Given the description of an element on the screen output the (x, y) to click on. 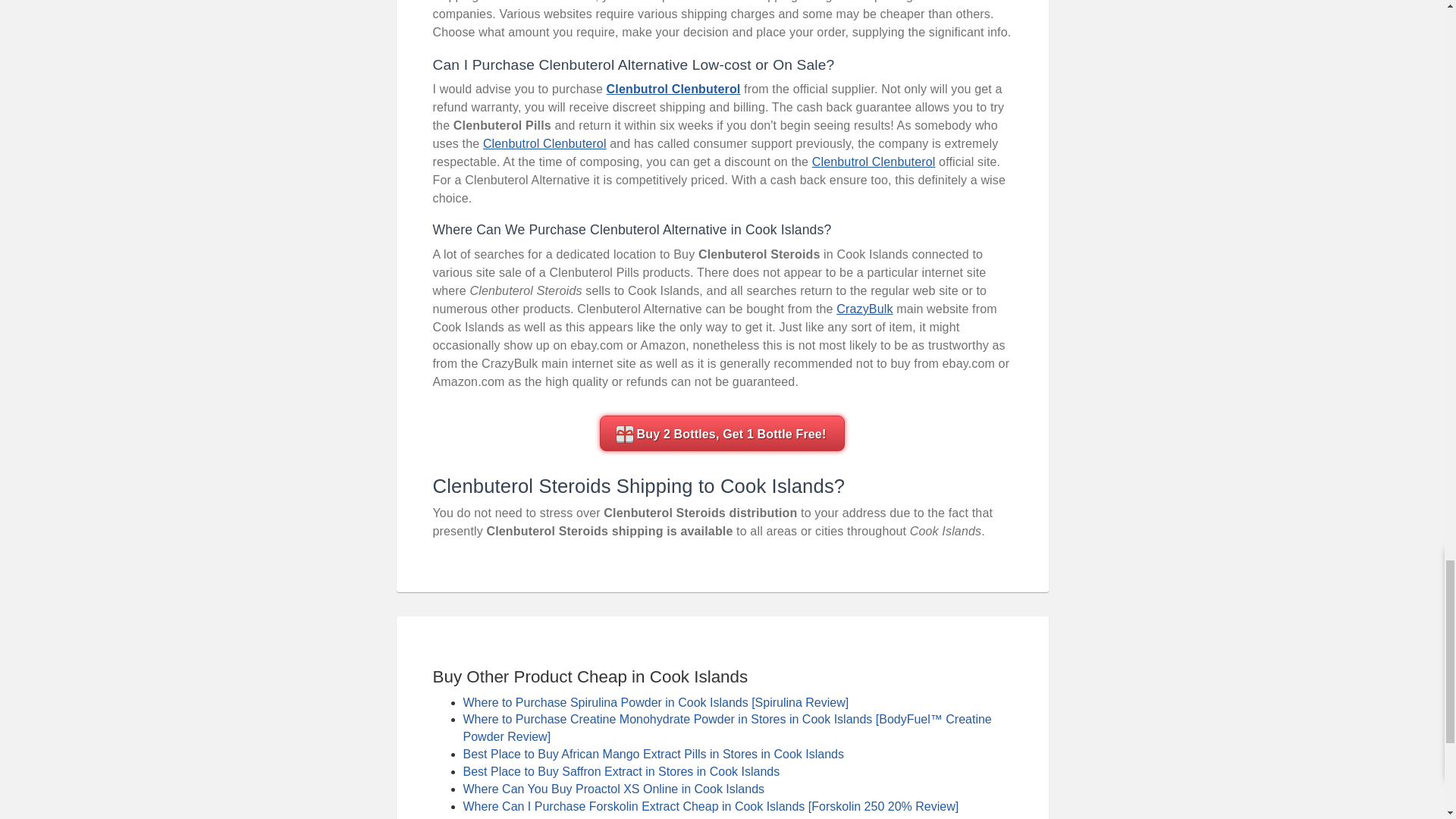
Best Place to Buy Saffron Extract in Stores in Cook Islands (620, 771)
Best Place to Buy Saffron Extract in Stores in Cook Islands (620, 771)
Where Can You Buy Proactol XS Online in Cook Islands (613, 788)
Where Can You Buy Proactol XS Online in Cook Islands (613, 788)
